Given the description of an element on the screen output the (x, y) to click on. 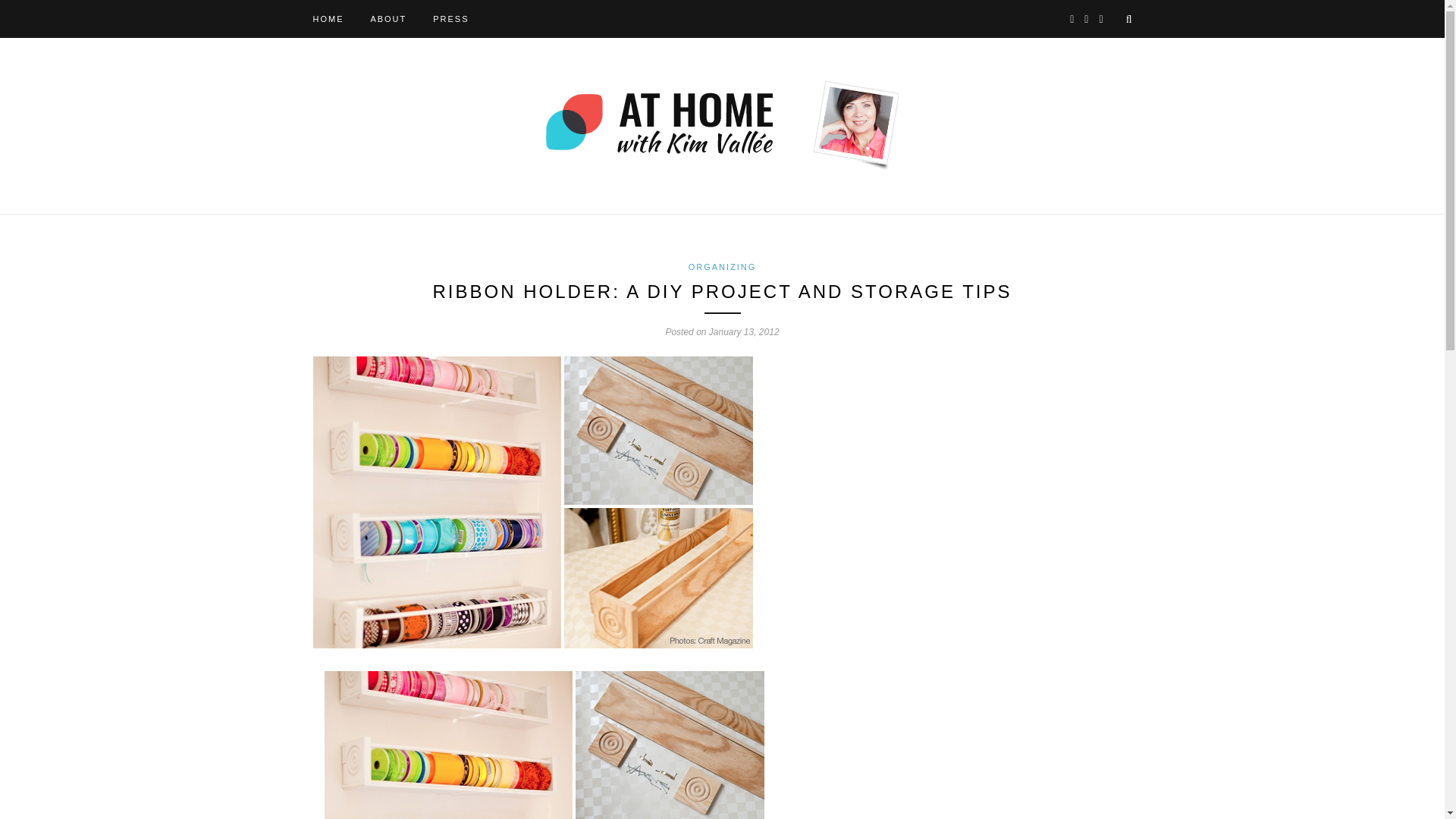
About this family lifestyle blog (387, 18)
ABOUT (387, 18)
ORGANIZING (722, 266)
PRESS (450, 18)
